Given the description of an element on the screen output the (x, y) to click on. 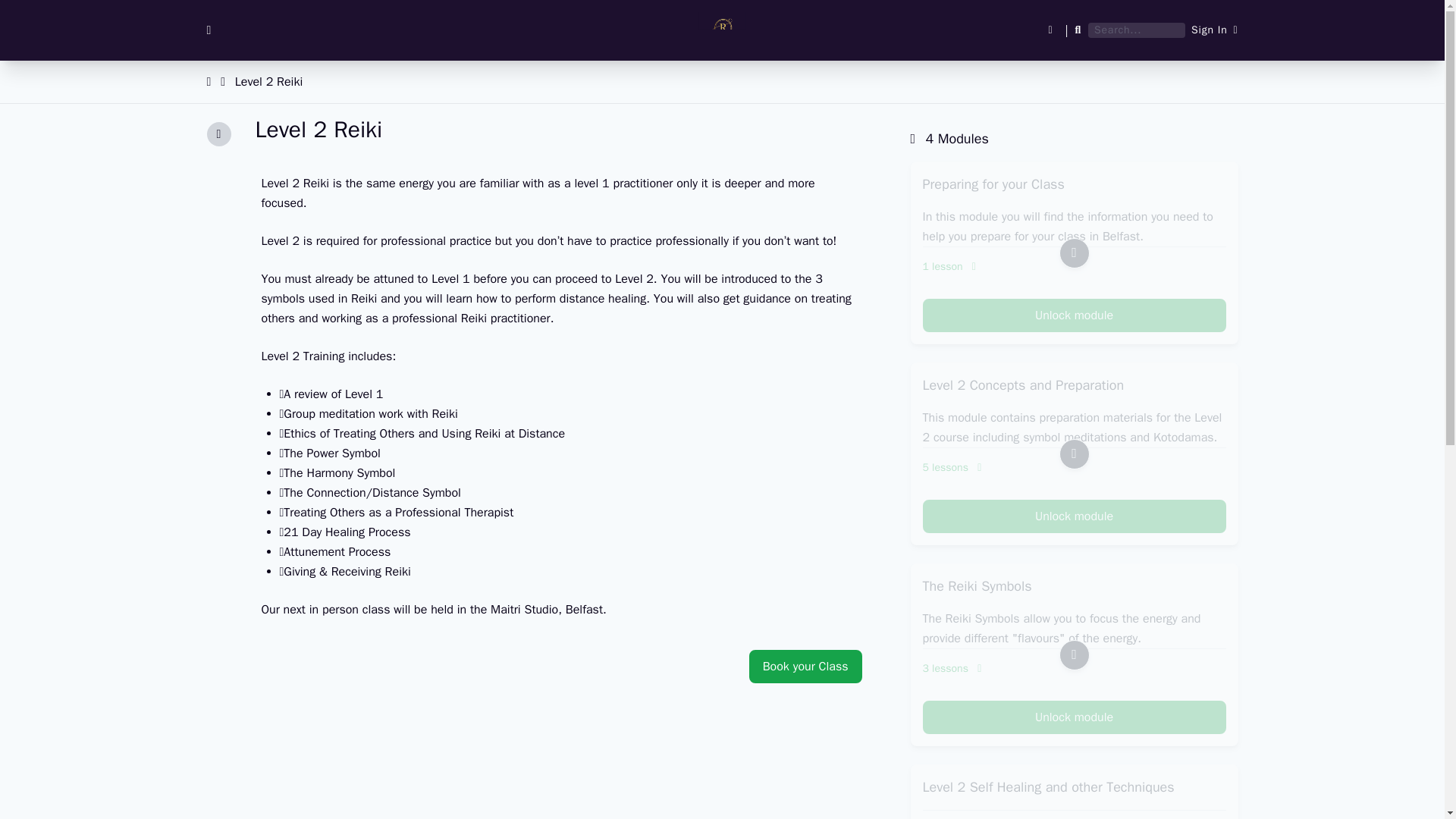
search (20, 7)
Level 2 Reiki (268, 81)
1 lesson (1074, 266)
Unlock module (1074, 315)
3 lessons (1074, 668)
Unlock module (1074, 516)
Unlock module (1074, 717)
Book your Class (805, 666)
5 lessons (1074, 467)
Sign In (1214, 29)
